Given the description of an element on the screen output the (x, y) to click on. 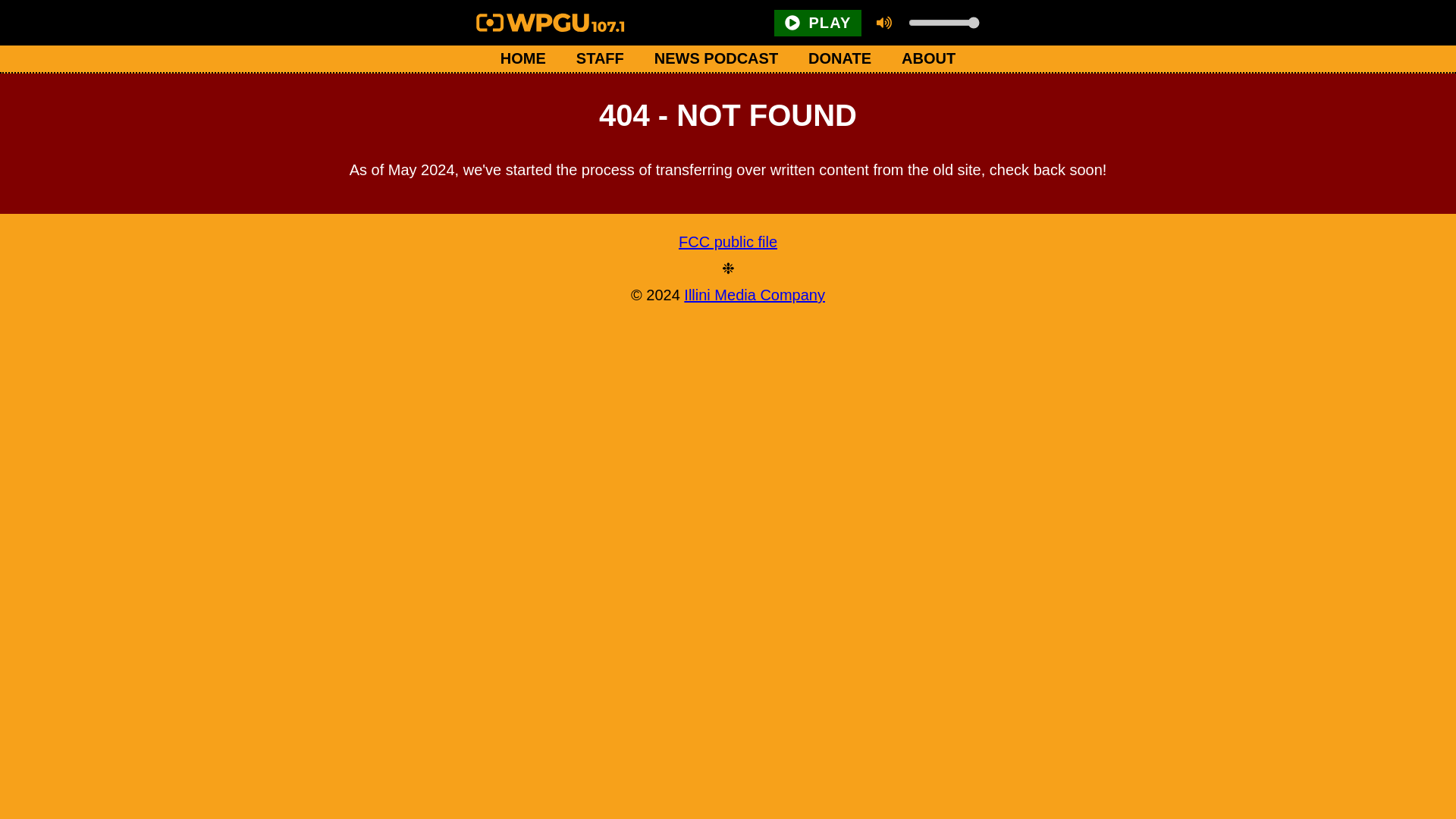
ABOUT (928, 58)
FCC public file (727, 242)
DONATE (839, 58)
1 (943, 22)
NEWS PODCAST (716, 58)
Illini Media Company (754, 294)
HOME (522, 58)
STAFF (599, 58)
PLAY (817, 22)
